Given the description of an element on the screen output the (x, y) to click on. 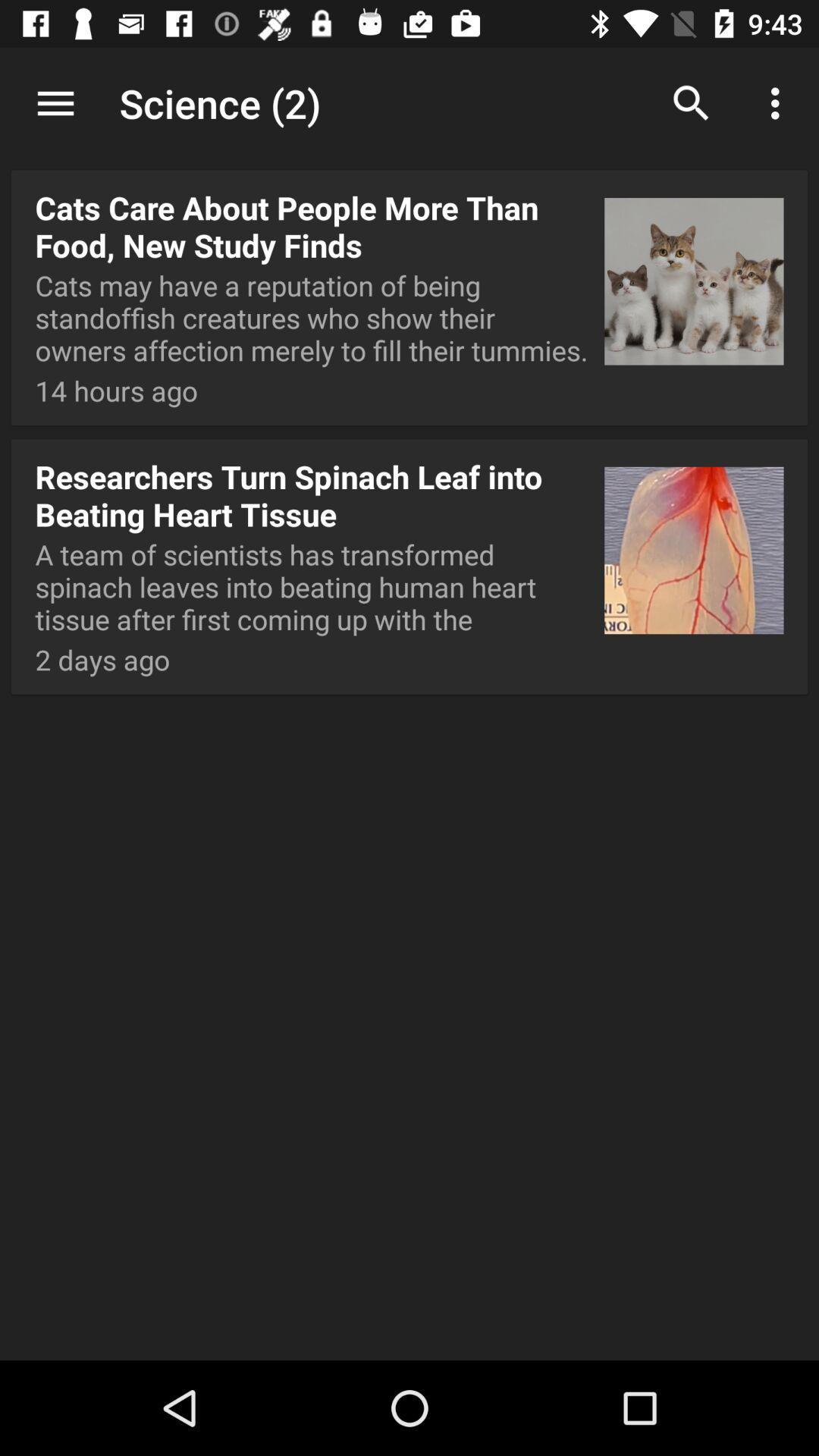
turn off item next to the science (2) app (55, 103)
